Given the description of an element on the screen output the (x, y) to click on. 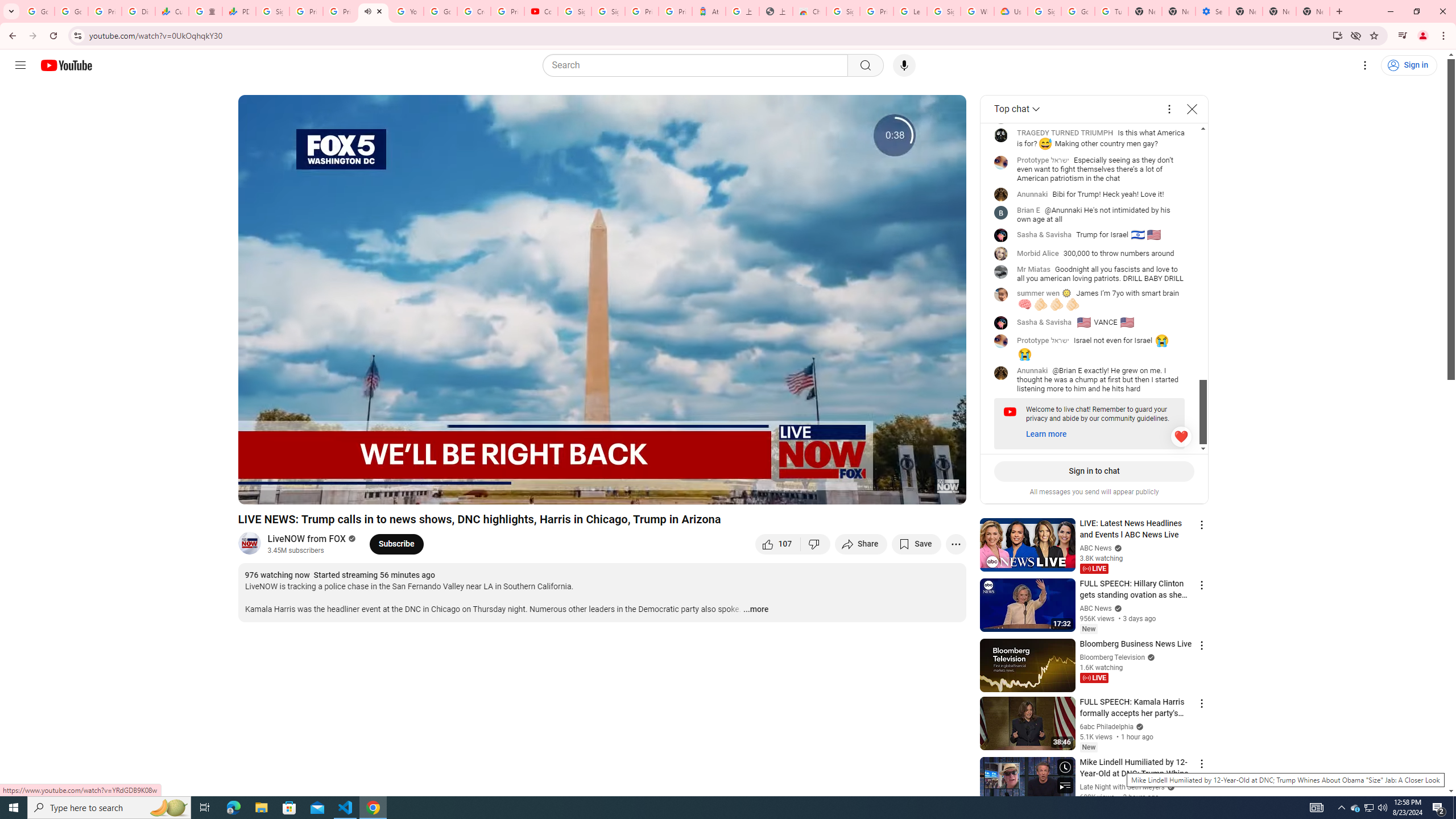
Verified (1169, 786)
More actions (955, 543)
Turn cookies on or off - Computer - Google Account Help (1111, 11)
Play (k) (257, 490)
like this video along with 107 other people (777, 543)
Settings - Addresses and more (1212, 11)
Theater mode (t) (917, 490)
Content Creator Programs & Opportunities - YouTube Creators (541, 11)
